Given the description of an element on the screen output the (x, y) to click on. 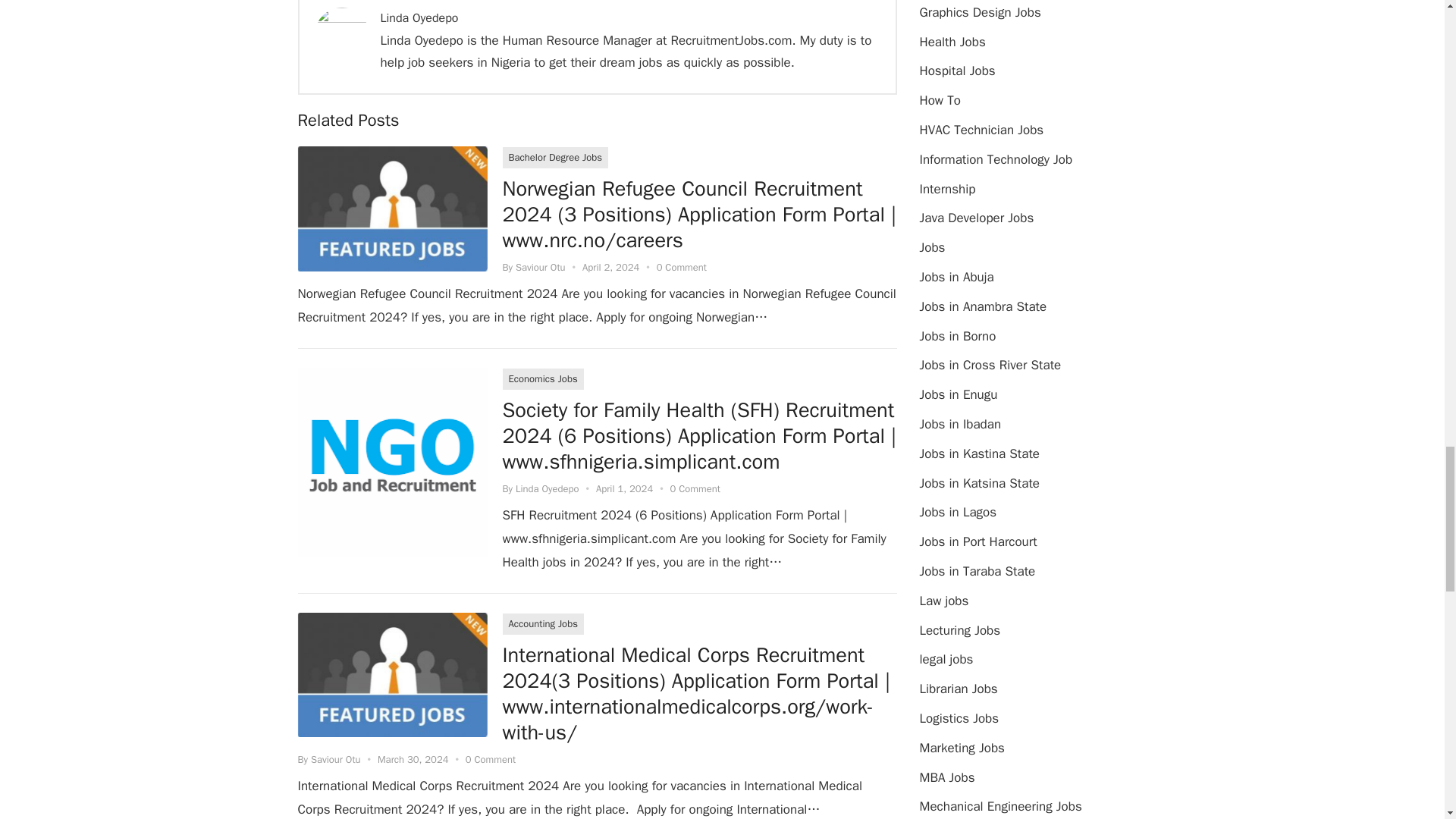
0 Comment (694, 488)
Saviour Otu (540, 267)
Posts by Saviour Otu (540, 267)
Economics Jobs (542, 378)
0 Comment (681, 267)
Linda Oyedepo (419, 17)
Accounting Jobs (542, 623)
Posts by Saviour Otu (336, 758)
Linda Oyedepo (547, 488)
Saviour Otu (336, 758)
